Given the description of an element on the screen output the (x, y) to click on. 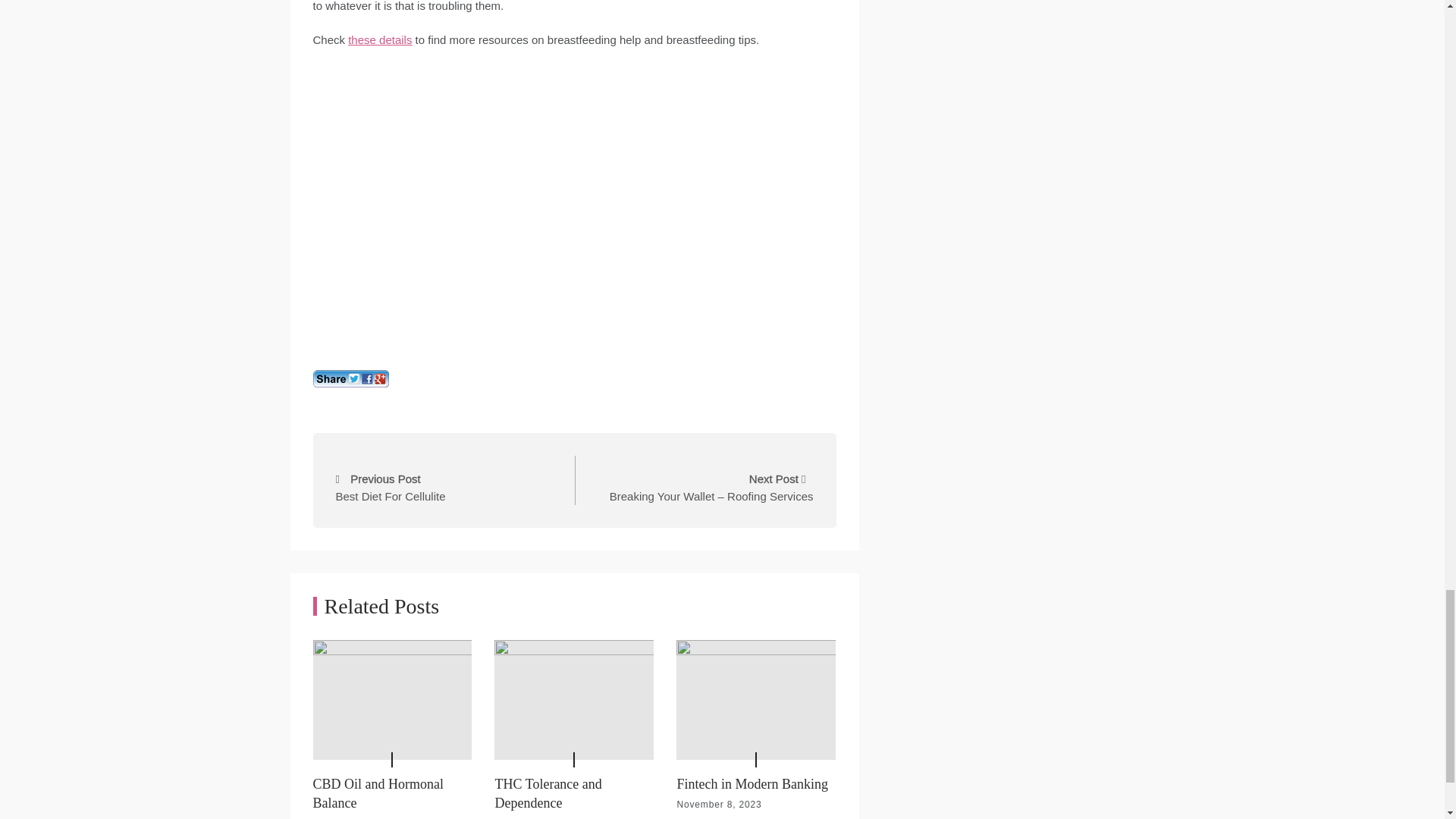
these details (379, 39)
THC Tolerance and Dependence (448, 480)
CBD Oil and Hormonal Balance (548, 793)
Fintech in Modern Banking (378, 793)
